Given the description of an element on the screen output the (x, y) to click on. 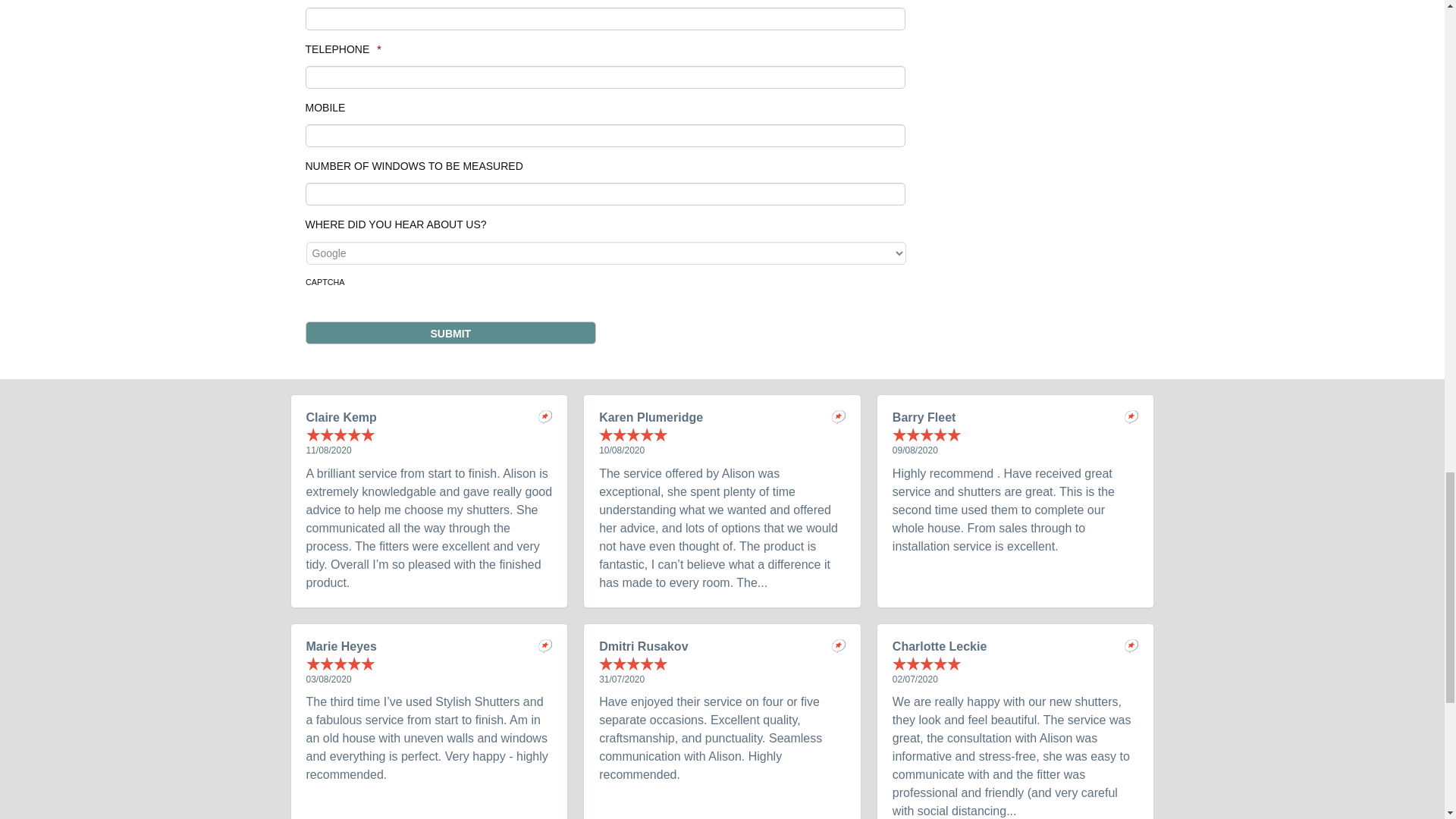
Submit (449, 332)
